Given the description of an element on the screen output the (x, y) to click on. 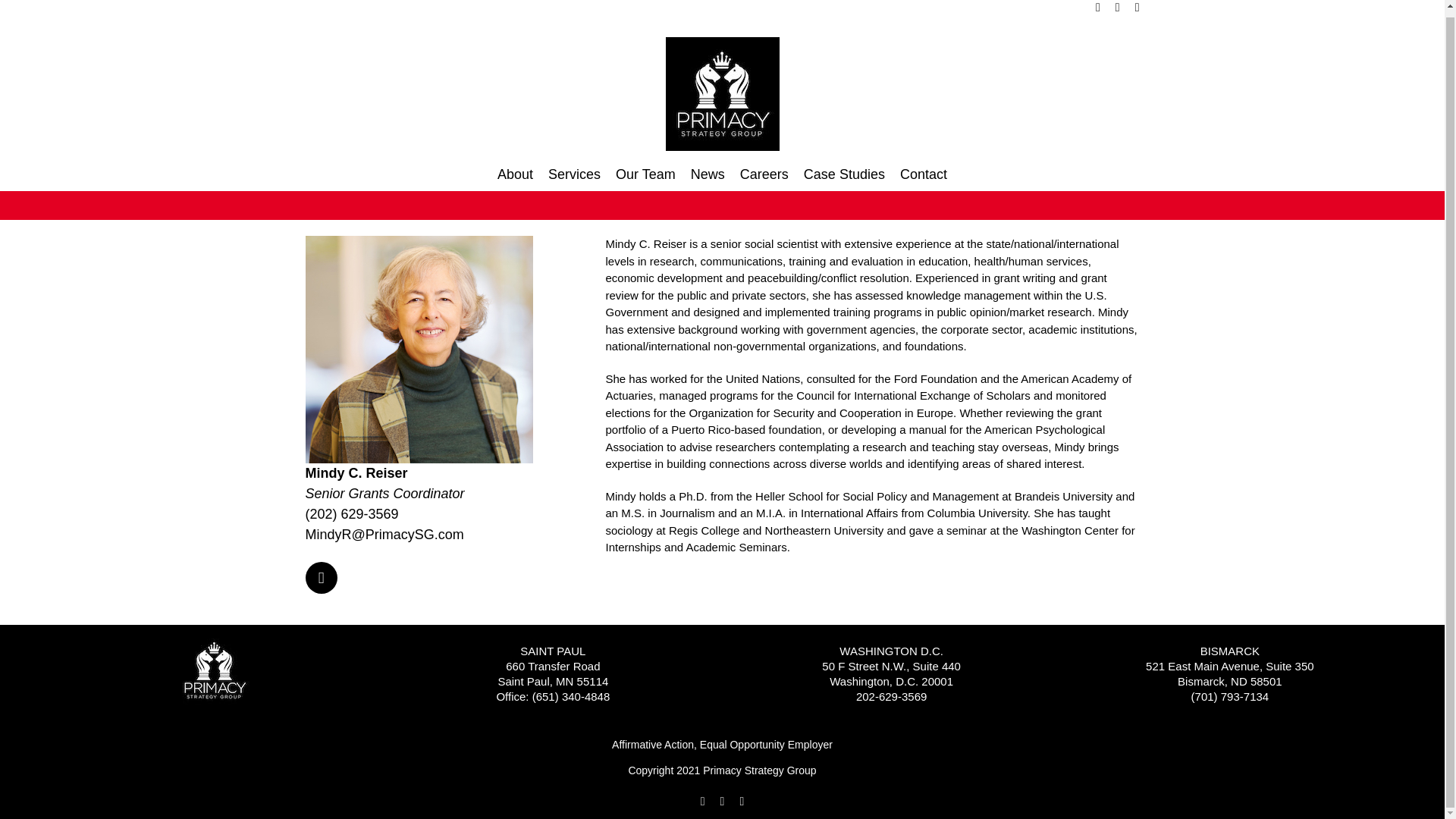
Contact (923, 173)
Careers (764, 173)
About (514, 173)
Case Studies (844, 173)
mindy-reiser (418, 349)
Our Team (645, 173)
News (707, 173)
Services (573, 173)
